Given the description of an element on the screen output the (x, y) to click on. 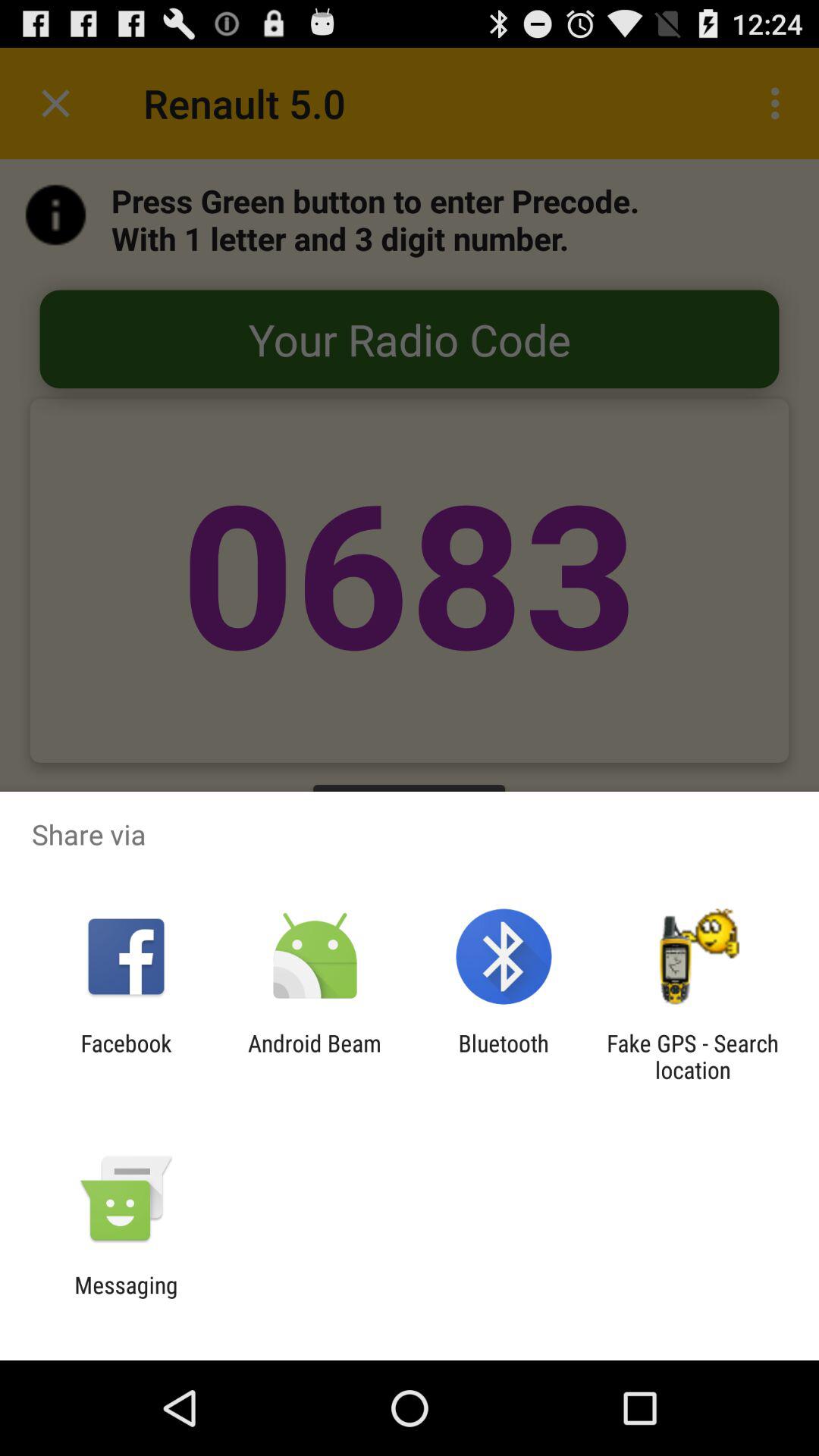
press facebook icon (125, 1056)
